Given the description of an element on the screen output the (x, y) to click on. 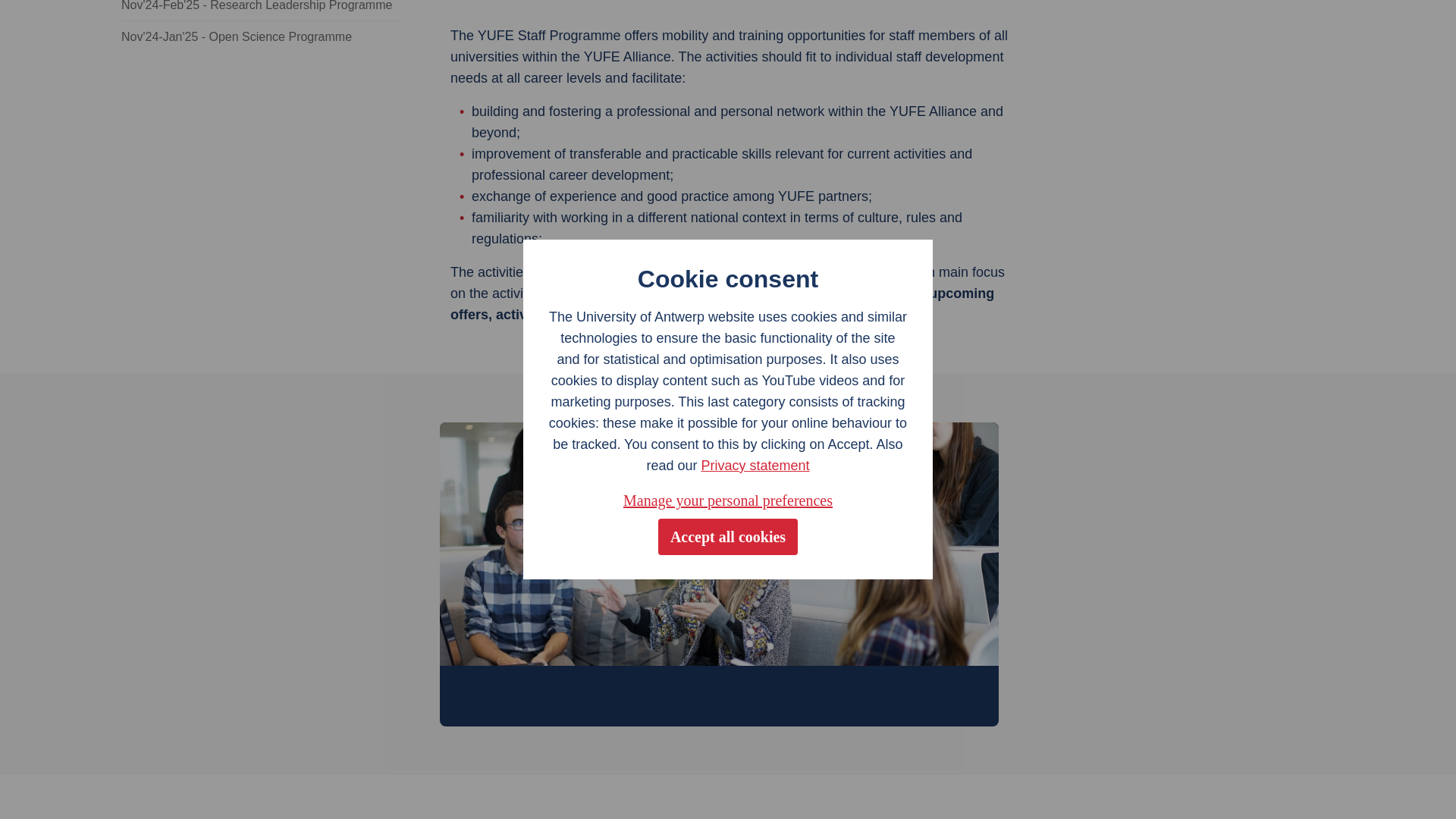
Nov'24-Feb'25 - Research Leadership Programme (260, 10)
Manage your personal preferences (727, 170)
YUFE Staff Portal (839, 314)
Privacy statement (754, 135)
Nov'24-Jan'25 - Open Science Programme (260, 36)
Accept all cookies (727, 207)
